Given the description of an element on the screen output the (x, y) to click on. 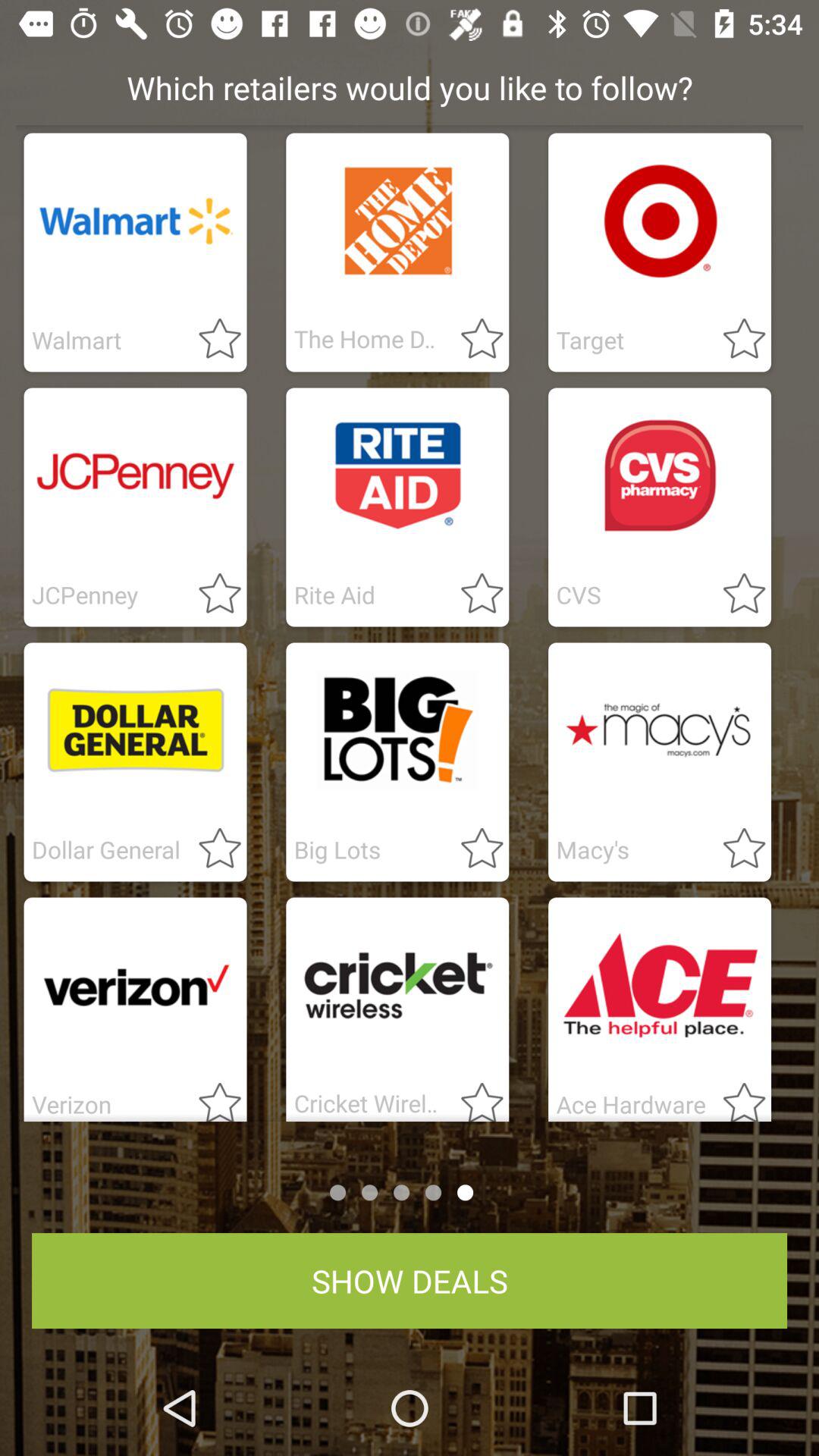
follow target (735, 339)
